Given the description of an element on the screen output the (x, y) to click on. 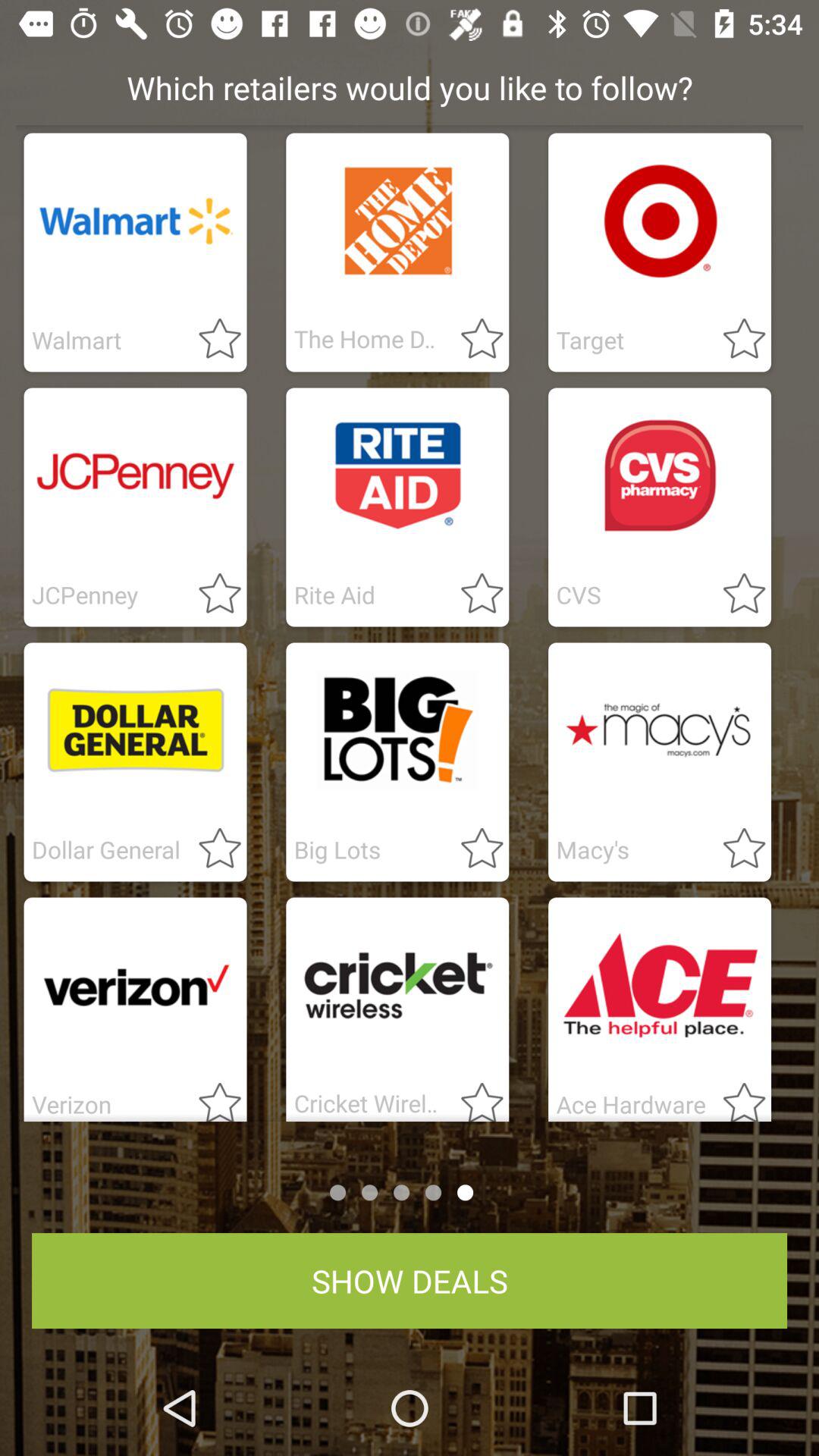
follow target (735, 339)
